Given the description of an element on the screen output the (x, y) to click on. 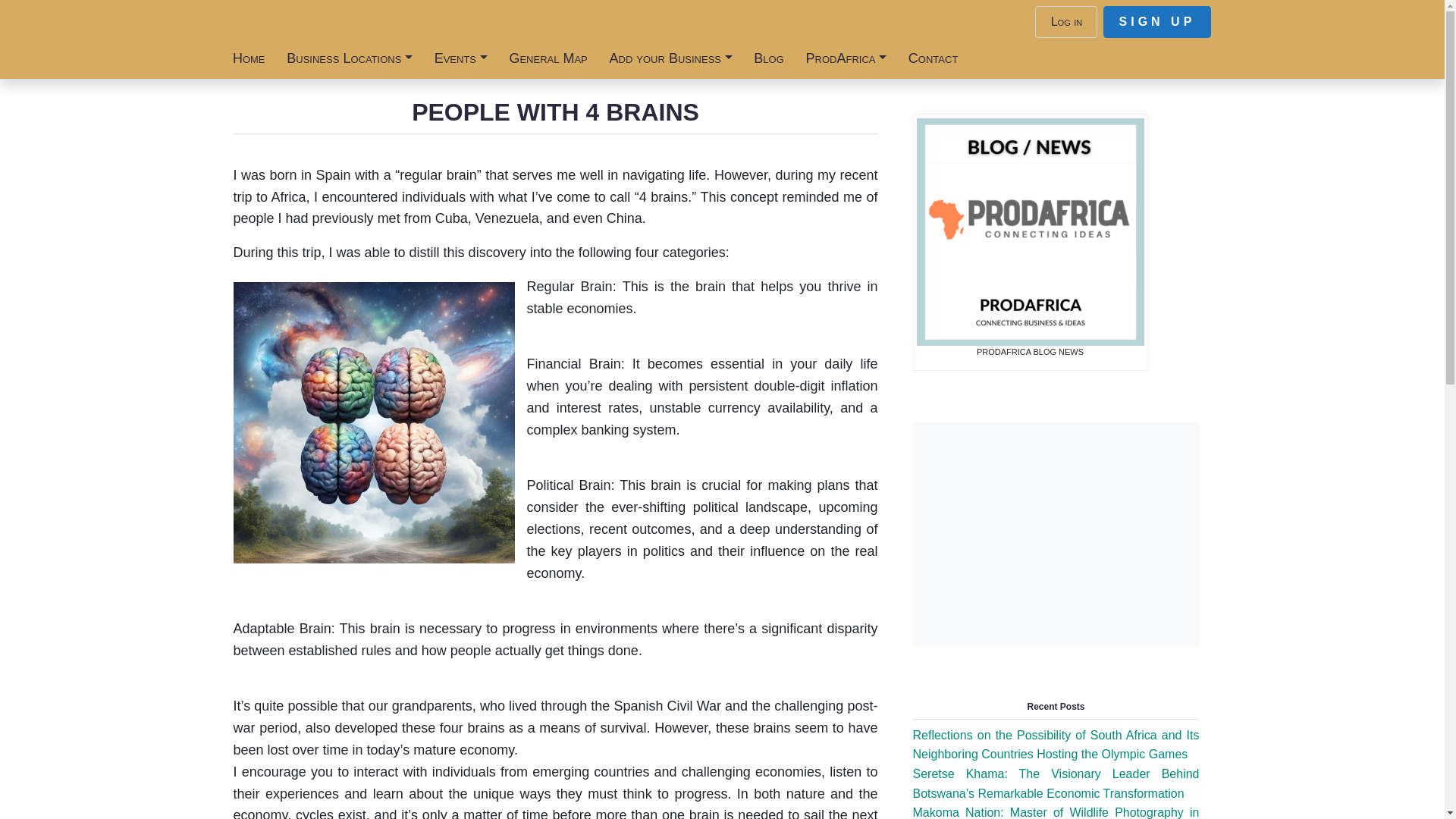
Advertisement (1055, 534)
People with 4 Brains 1 (373, 422)
SIGN UP (1156, 21)
Home (248, 57)
Business Locations (349, 57)
Log in (1066, 21)
